Given the description of an element on the screen output the (x, y) to click on. 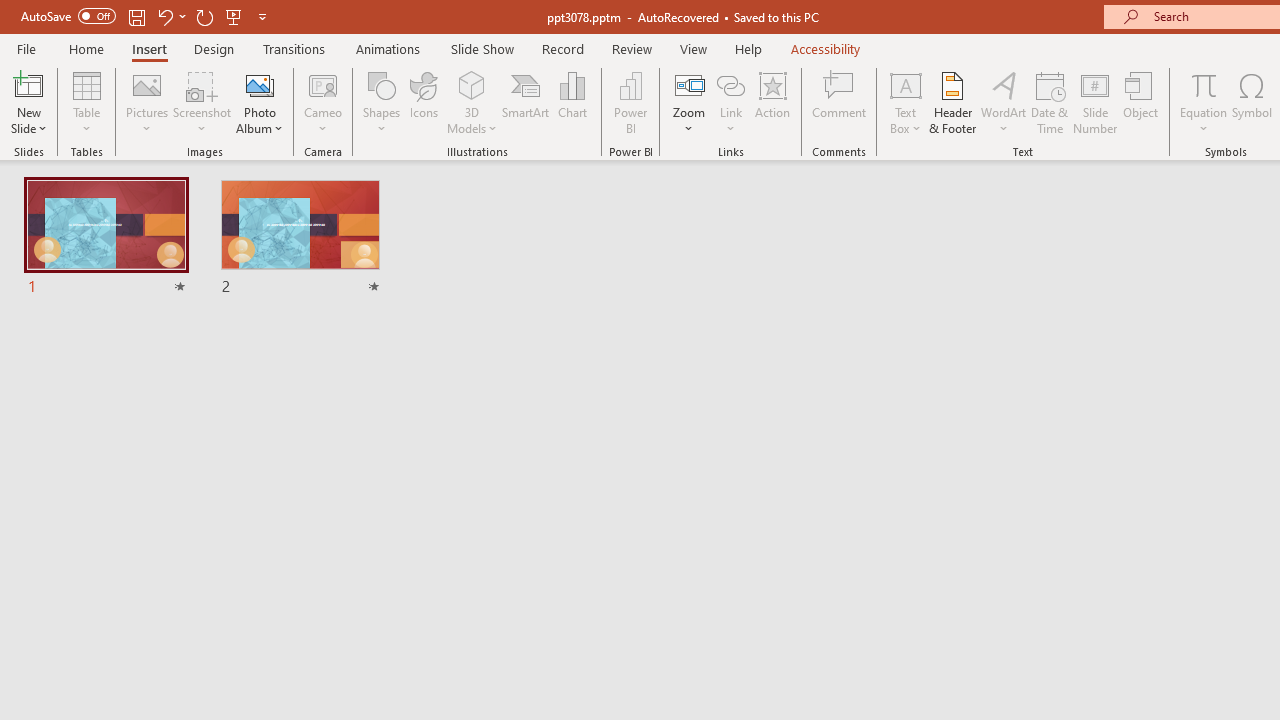
Header & Footer... (952, 102)
3D Models (472, 84)
Date & Time... (1050, 102)
Symbol... (1252, 102)
Screenshot (202, 102)
Icons (424, 102)
Comment (839, 102)
Power BI (630, 102)
New Photo Album... (259, 84)
